Given the description of an element on the screen output the (x, y) to click on. 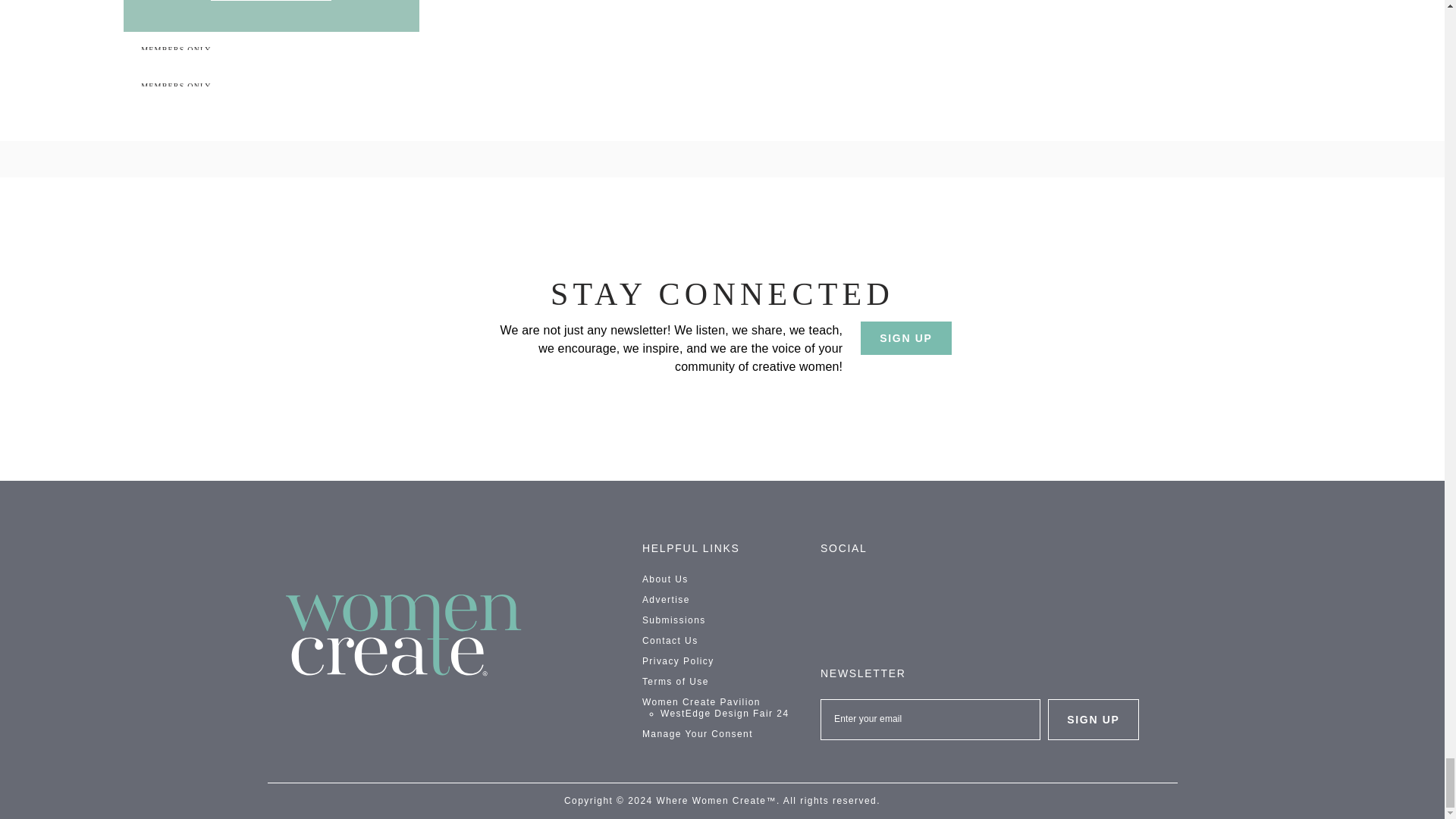
Sign Up (905, 337)
Sign Up (1093, 719)
Women Create (403, 635)
